Given the description of an element on the screen output the (x, y) to click on. 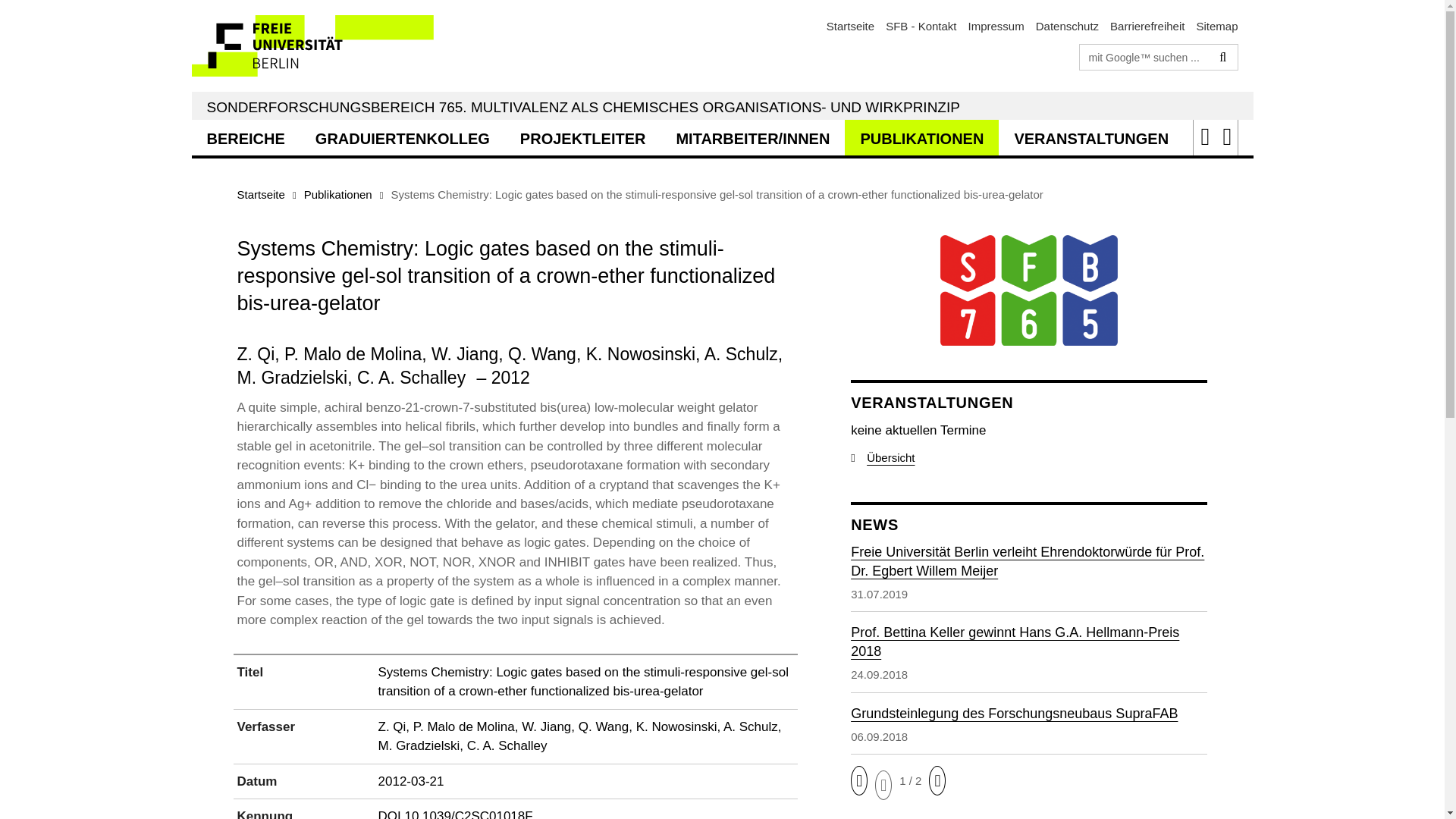
BEREICHE (244, 137)
SFB - Kontakt (920, 25)
PROJEKTLEITER (583, 137)
Seite 1 von insgesamt 2 Seiten (910, 781)
Barrierefreiheit (1147, 25)
Impressum (996, 25)
GRADUIERTENKOLLEG (402, 137)
